Given the description of an element on the screen output the (x, y) to click on. 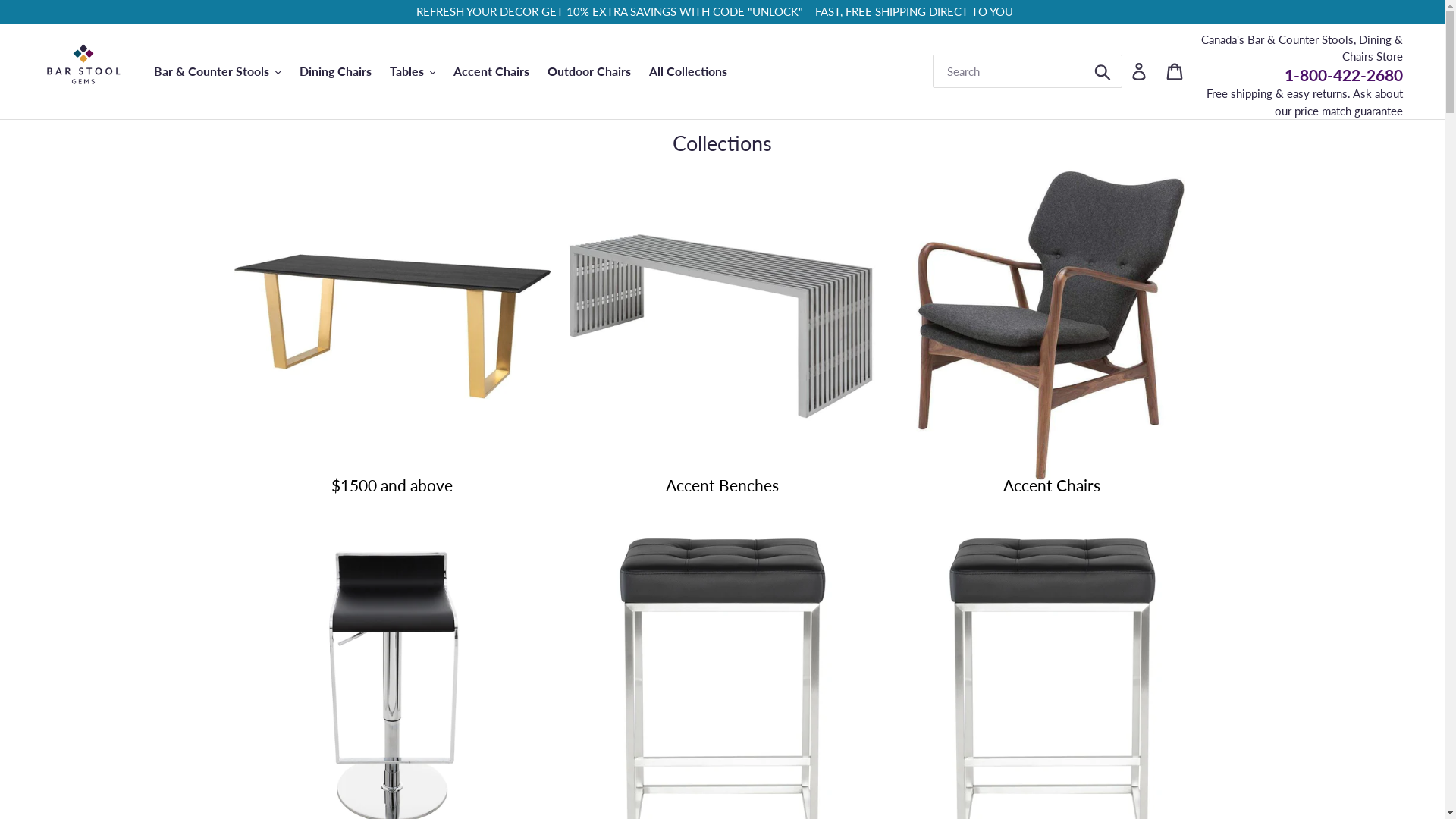
$1500 and above Element type: text (392, 325)
Submit Element type: text (1103, 70)
Outdoor Chairs Element type: text (588, 70)
All Collections Element type: text (687, 70)
Accent Benches Element type: text (721, 325)
Accent Chairs Element type: text (1051, 325)
Dining Chairs Element type: text (335, 70)
Cart Element type: text (1175, 70)
Accent Chairs Element type: text (490, 70)
Log in Element type: text (1139, 70)
